Given the description of an element on the screen output the (x, y) to click on. 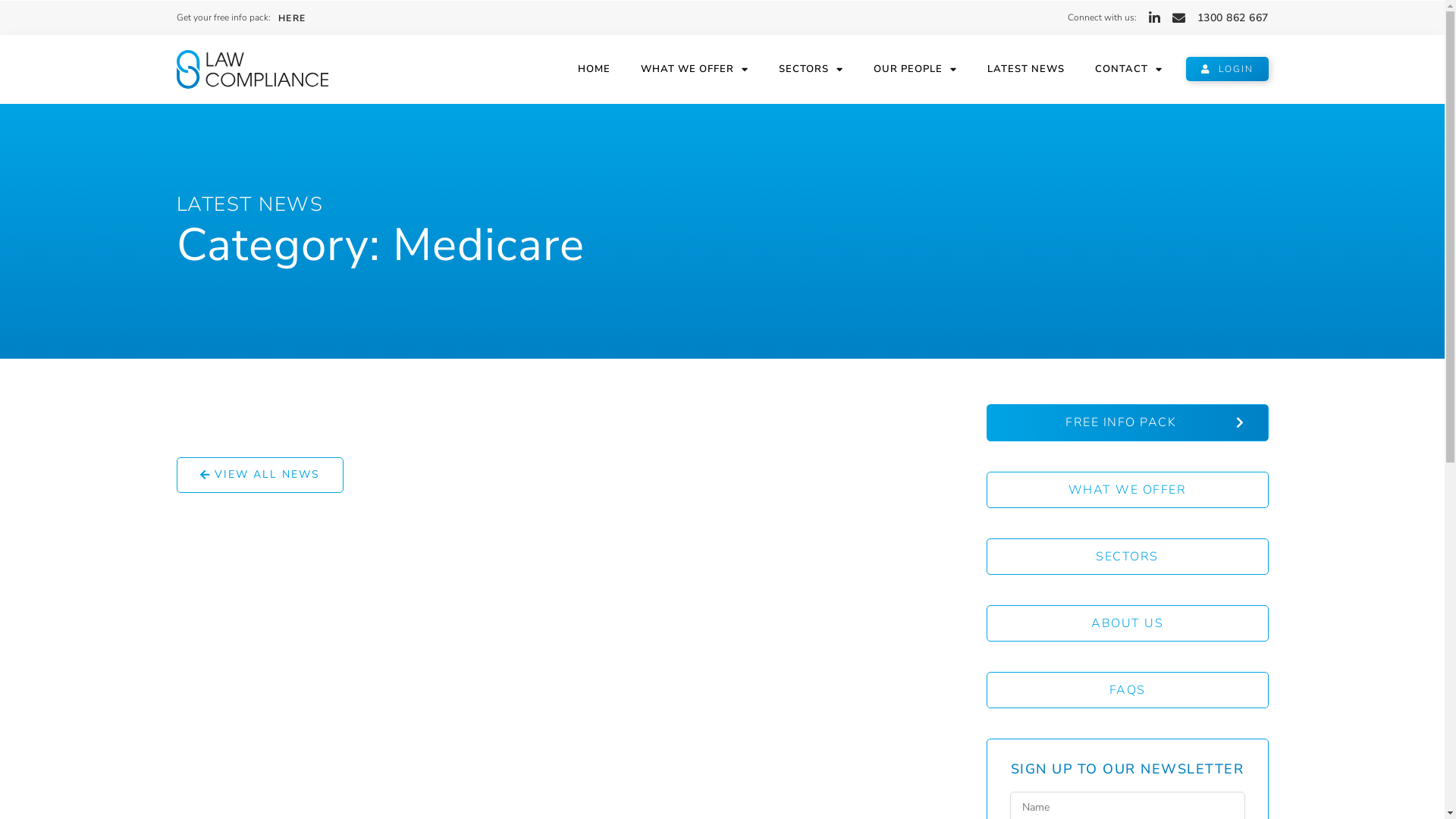
LATEST NEWS Element type: text (1025, 68)
1300 862 667 Element type: text (1231, 17)
LATEST NEWS Element type: text (249, 204)
SECTORS Element type: text (1126, 556)
VIEW ALL NEWS Element type: text (258, 474)
SECTORS Element type: text (810, 68)
OUR PEOPLE Element type: text (915, 68)
FAQS Element type: text (1126, 689)
HOME Element type: text (593, 68)
HERE Element type: text (291, 17)
WHAT WE OFFER Element type: text (1126, 489)
FREE INFO PACK Element type: text (1126, 422)
ABOUT US Element type: text (1126, 623)
WHAT WE OFFER Element type: text (694, 68)
LOGIN Element type: text (1227, 68)
CONTACT Element type: text (1128, 68)
